Given the description of an element on the screen output the (x, y) to click on. 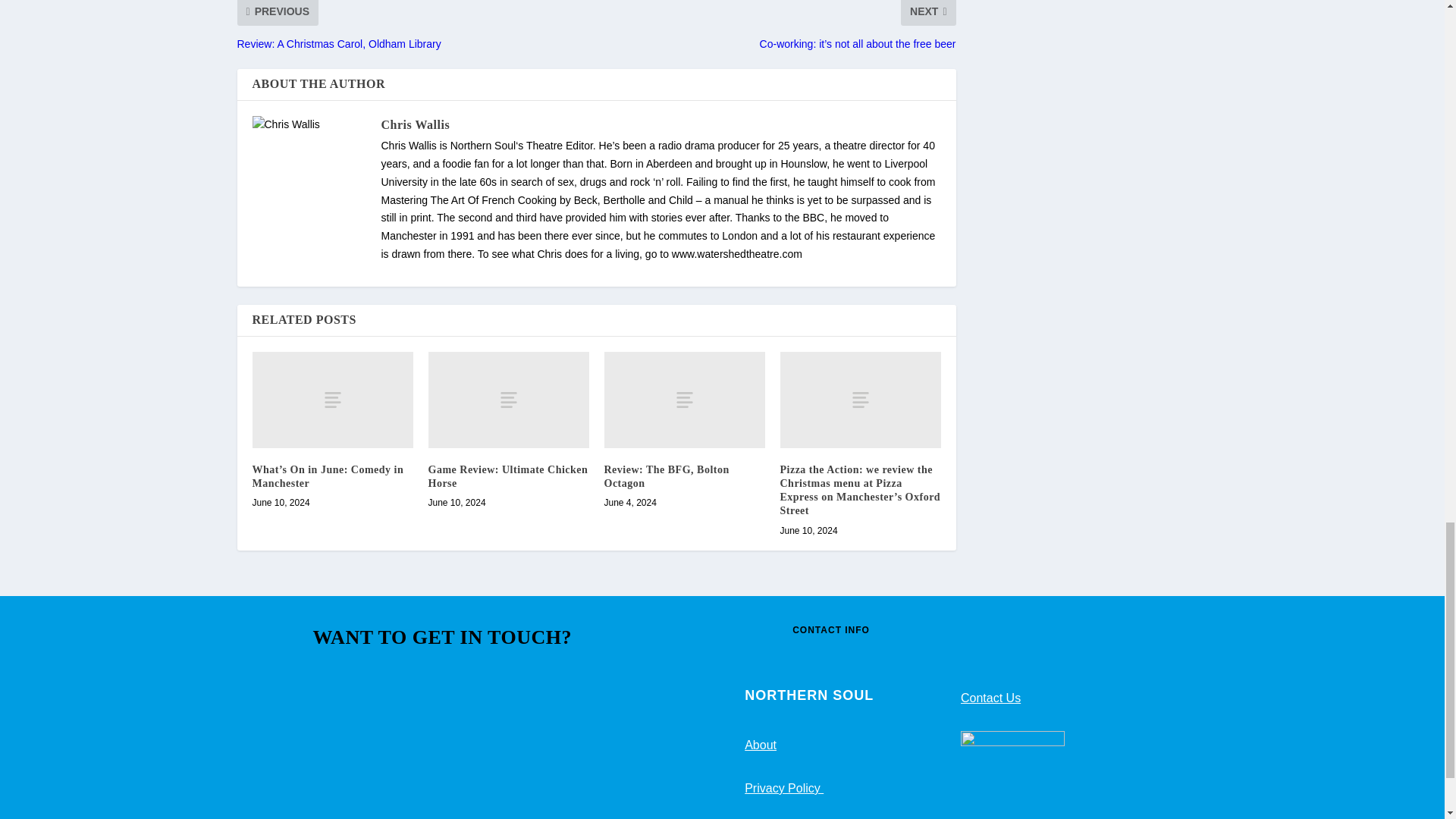
Game Review: Ultimate Chicken Horse (508, 399)
Review: The BFG, Bolton Octagon (684, 399)
View all posts by Chris Wallis (414, 124)
